Given the description of an element on the screen output the (x, y) to click on. 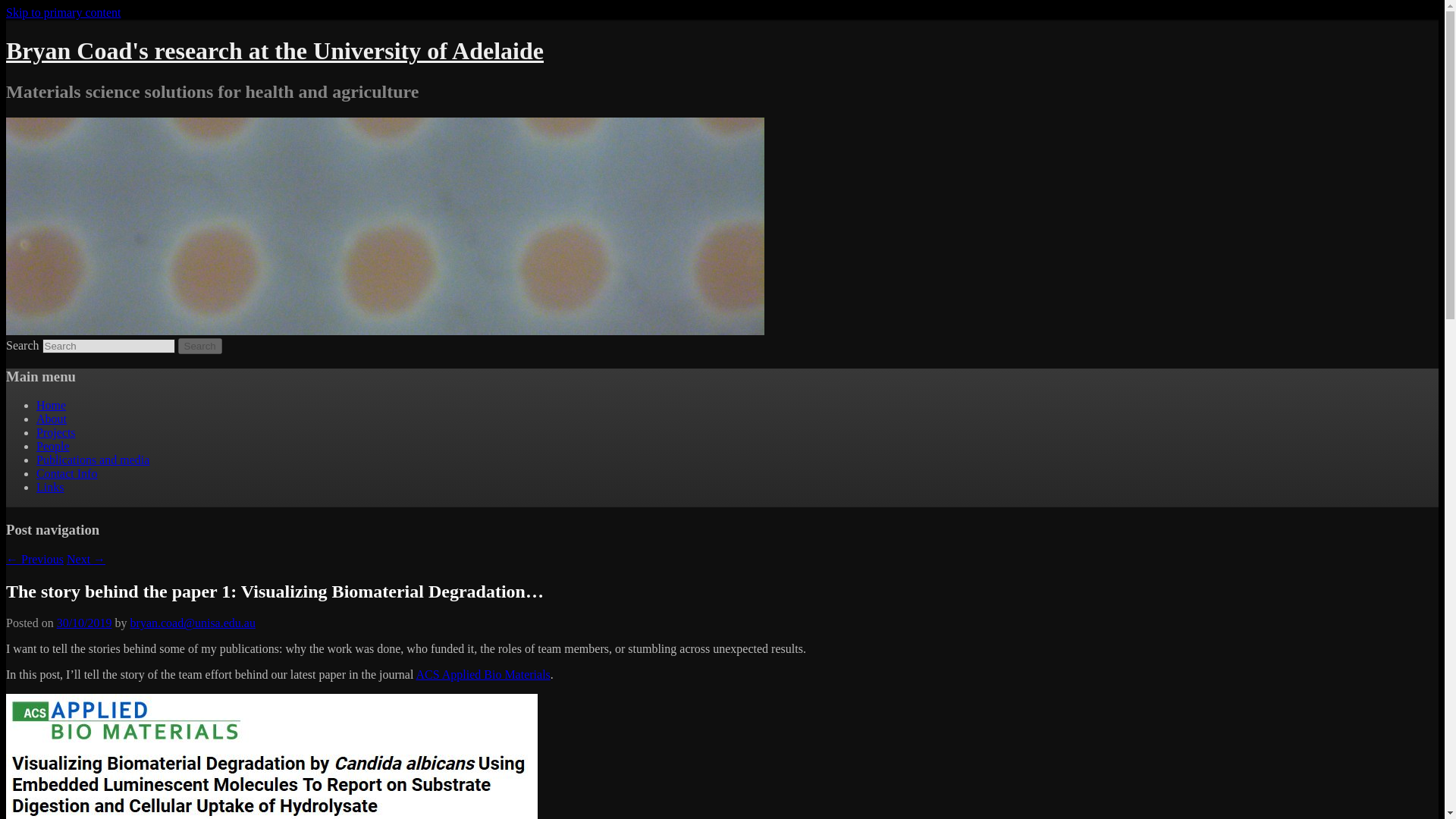
People (52, 445)
8:32 PM (84, 622)
Contact Info (66, 472)
Home (50, 404)
Bryan Coad's research at the University of Adelaide (274, 50)
Links (50, 486)
Skip to primary content (62, 11)
Publications and media (92, 459)
About (51, 418)
Search (199, 345)
Projects (55, 431)
ACS Applied Bio Materials (482, 674)
Search (199, 345)
